Given the description of an element on the screen output the (x, y) to click on. 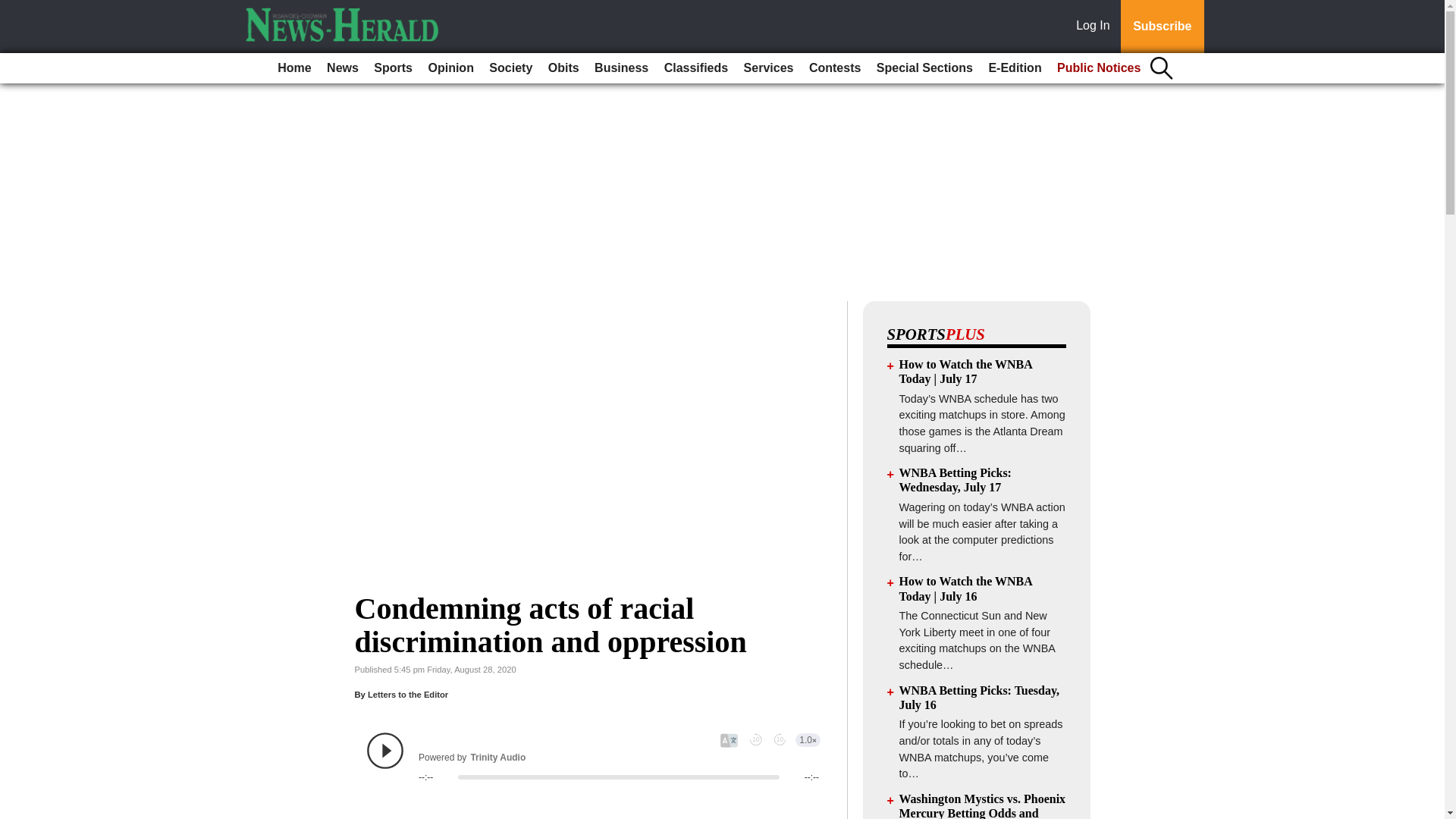
Letters to the Editor (408, 694)
Opinion (450, 68)
Trinity Audio Player (592, 757)
News (342, 68)
Home (293, 68)
Log In (1095, 26)
Classifieds (695, 68)
Obits (563, 68)
E-Edition (1013, 68)
Contests (834, 68)
Public Notices (1099, 68)
Special Sections (924, 68)
Sports (393, 68)
Services (768, 68)
Subscribe (1162, 26)
